Given the description of an element on the screen output the (x, y) to click on. 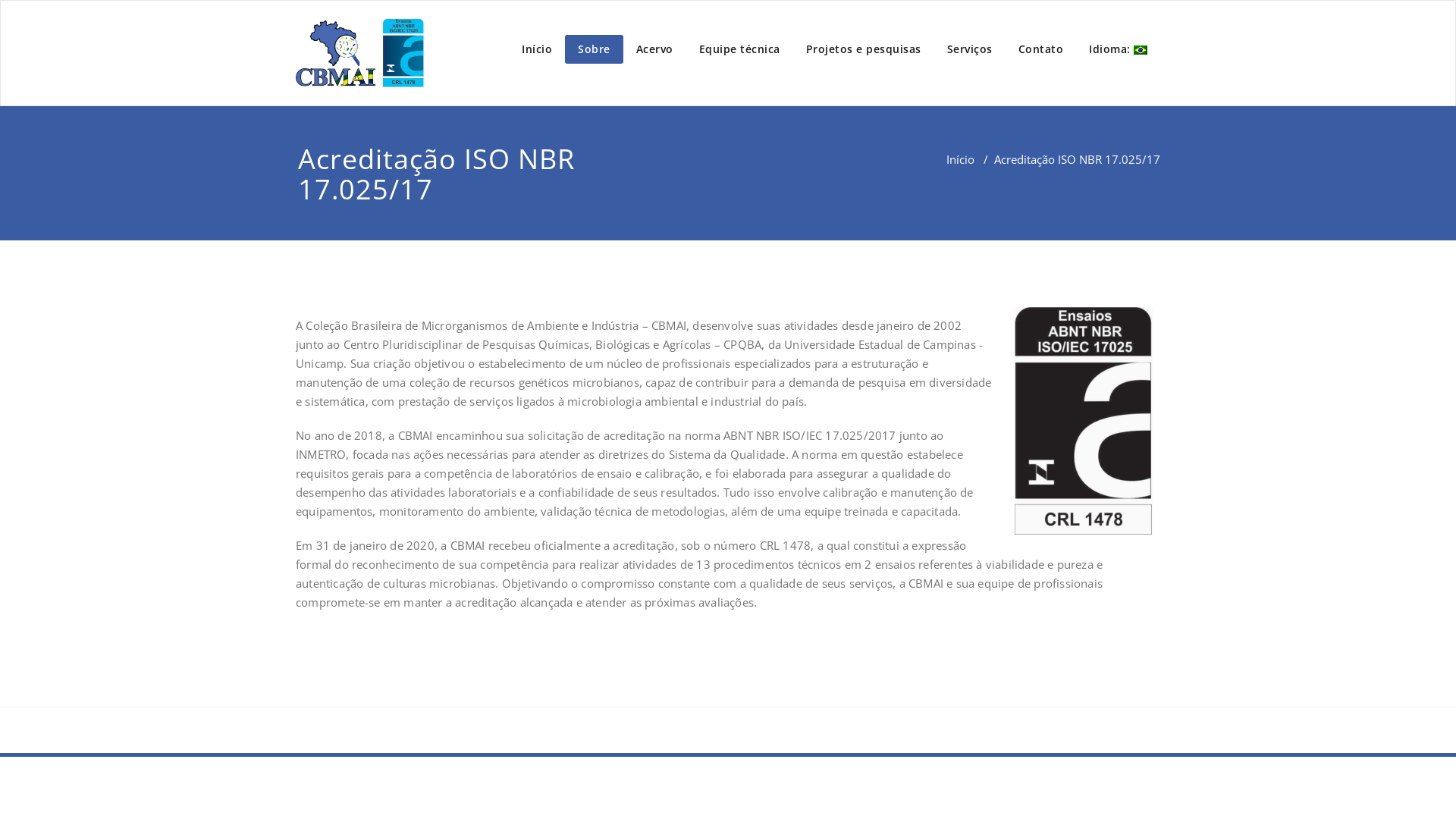
Idioma:  Element type: text (1118, 48)
Sobre Element type: text (593, 48)
Projetos e pesquisas Element type: text (863, 48)
Appointment Element type: hover (359, 52)
Acervo Element type: text (654, 48)
Contato Element type: text (1040, 48)
